Given the description of an element on the screen output the (x, y) to click on. 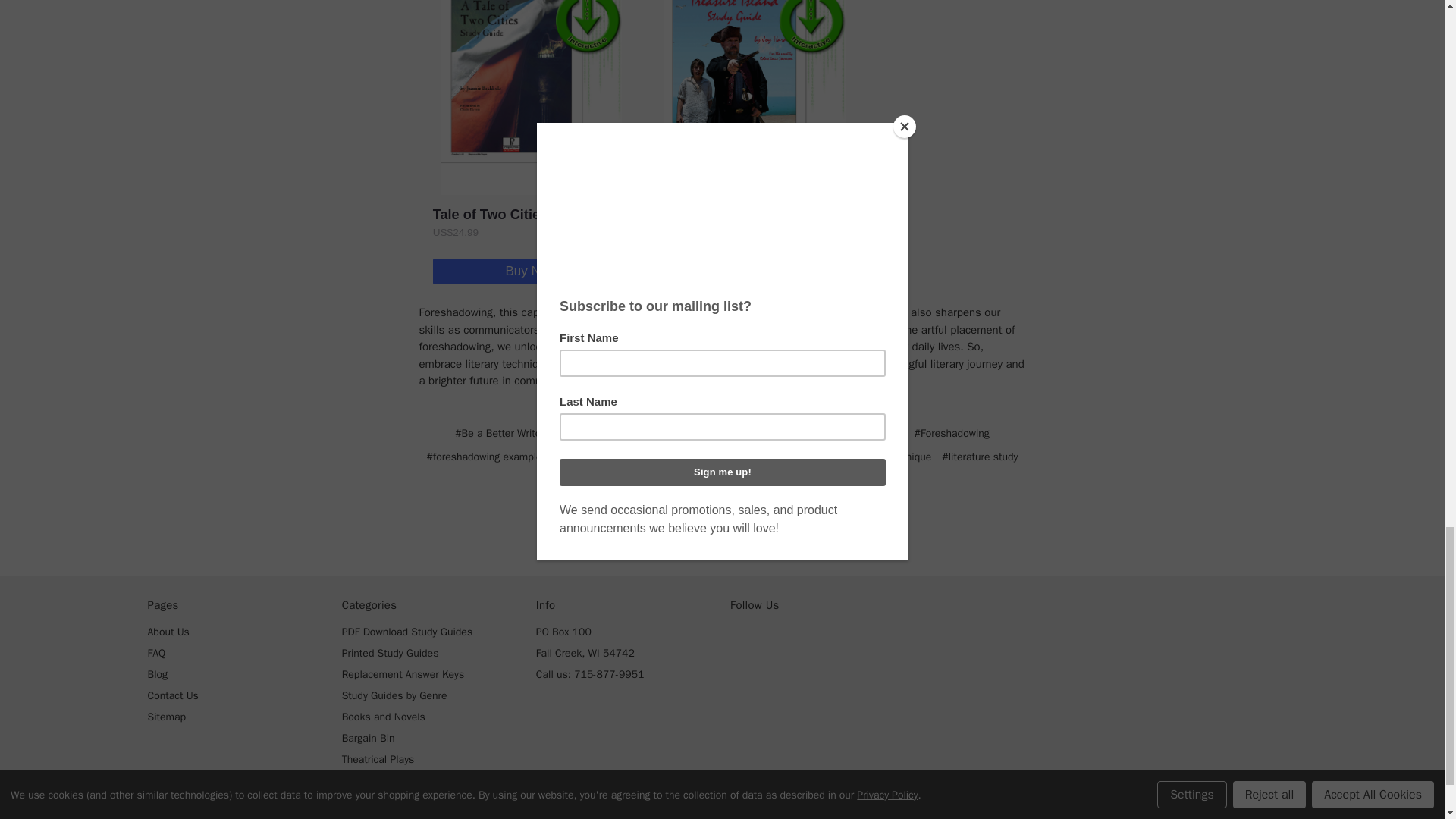
Pinterest (775, 525)
Print (720, 525)
Facebook (667, 525)
Email (693, 525)
Twitter (746, 525)
